Given the description of an element on the screen output the (x, y) to click on. 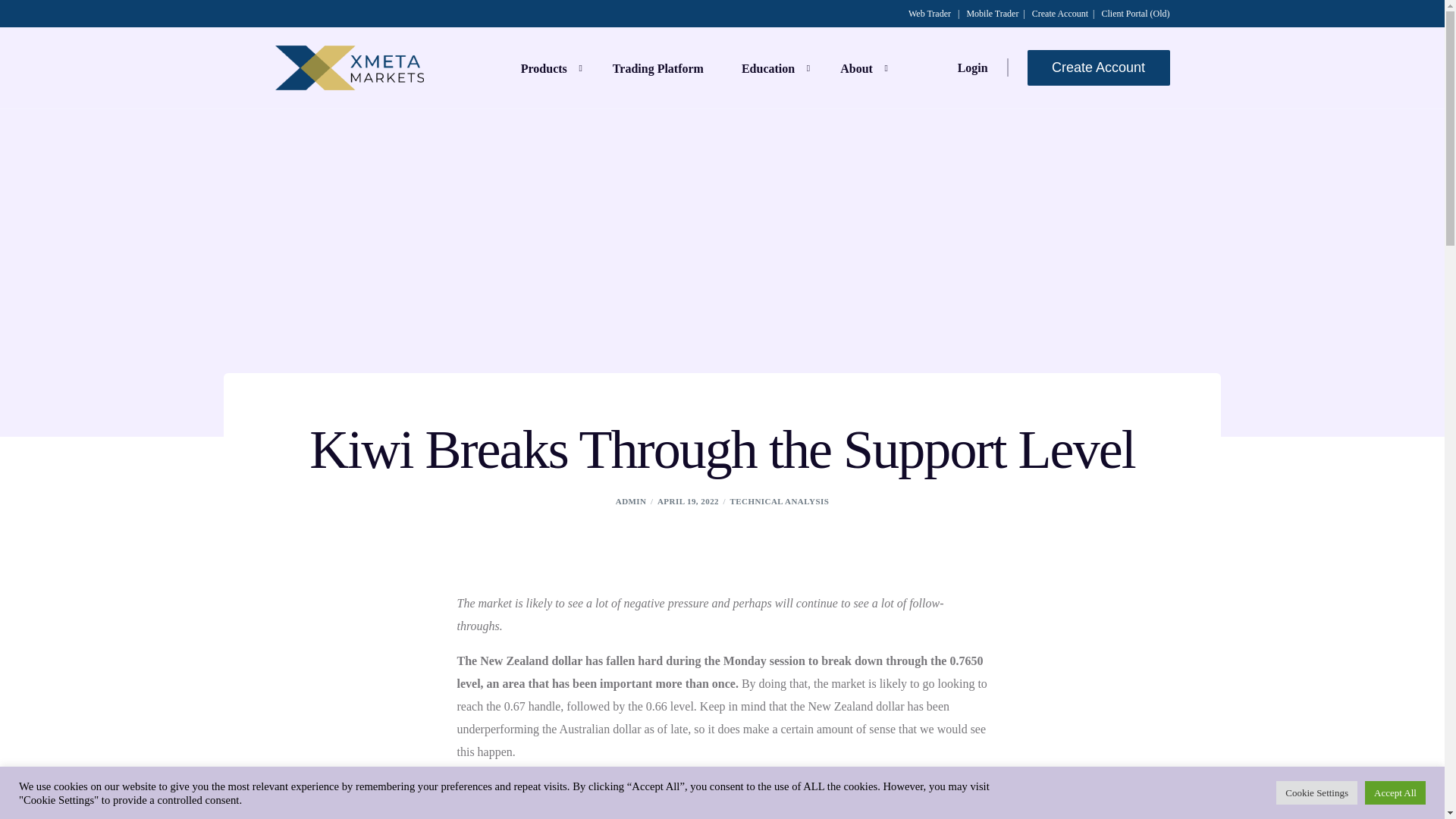
Web Trader (929, 13)
Education (771, 67)
Posts by admin (630, 501)
About (860, 67)
Mobile Trader (991, 13)
Create Account (1059, 13)
Products (548, 67)
Trading Platform (658, 67)
